Given the description of an element on the screen output the (x, y) to click on. 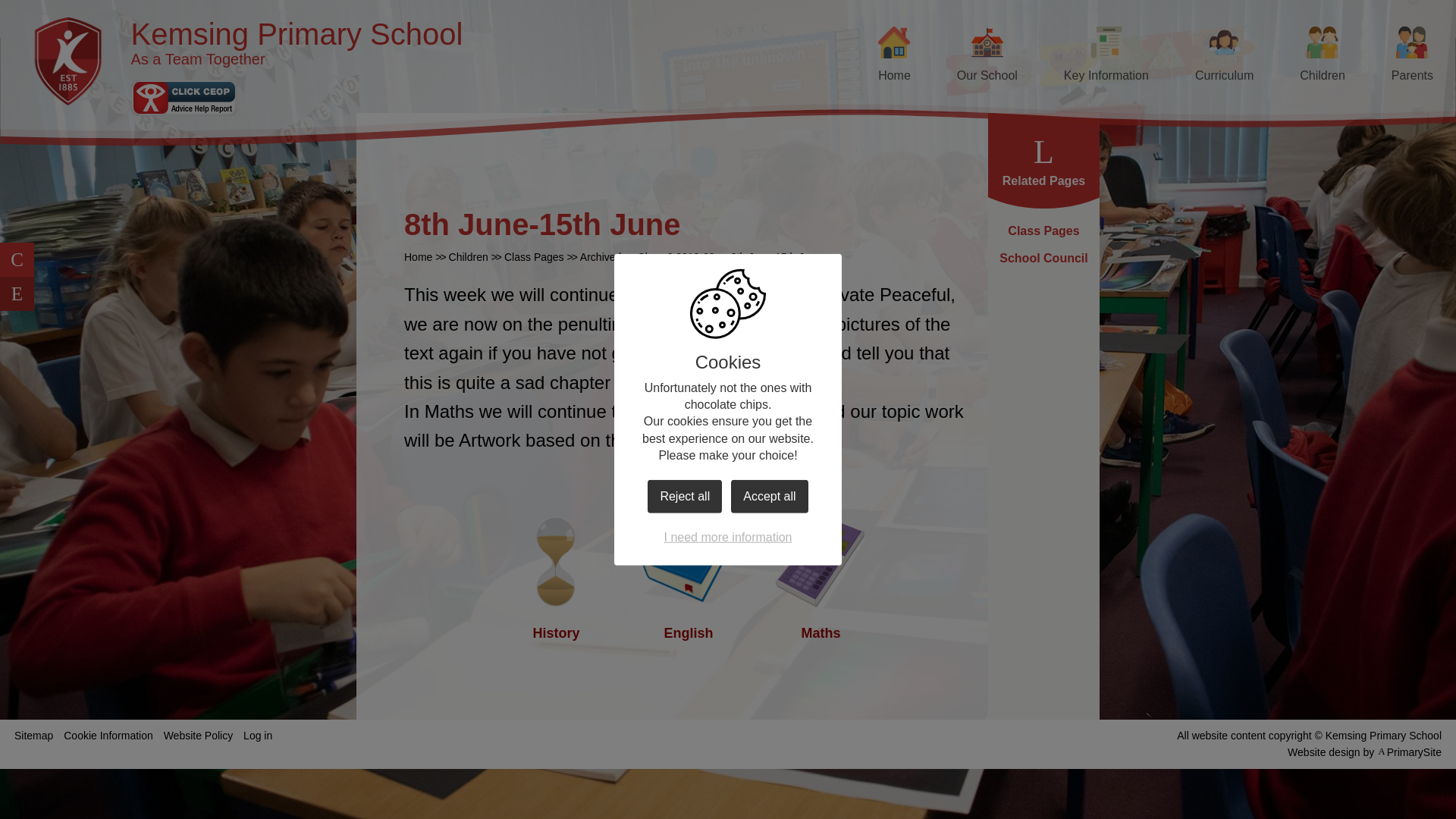
Our School (987, 55)
Home Page (68, 61)
Key Information (1106, 55)
CEOP - Advice, Help and Report (184, 97)
Home (893, 55)
Curriculum (1224, 55)
